Given the description of an element on the screen output the (x, y) to click on. 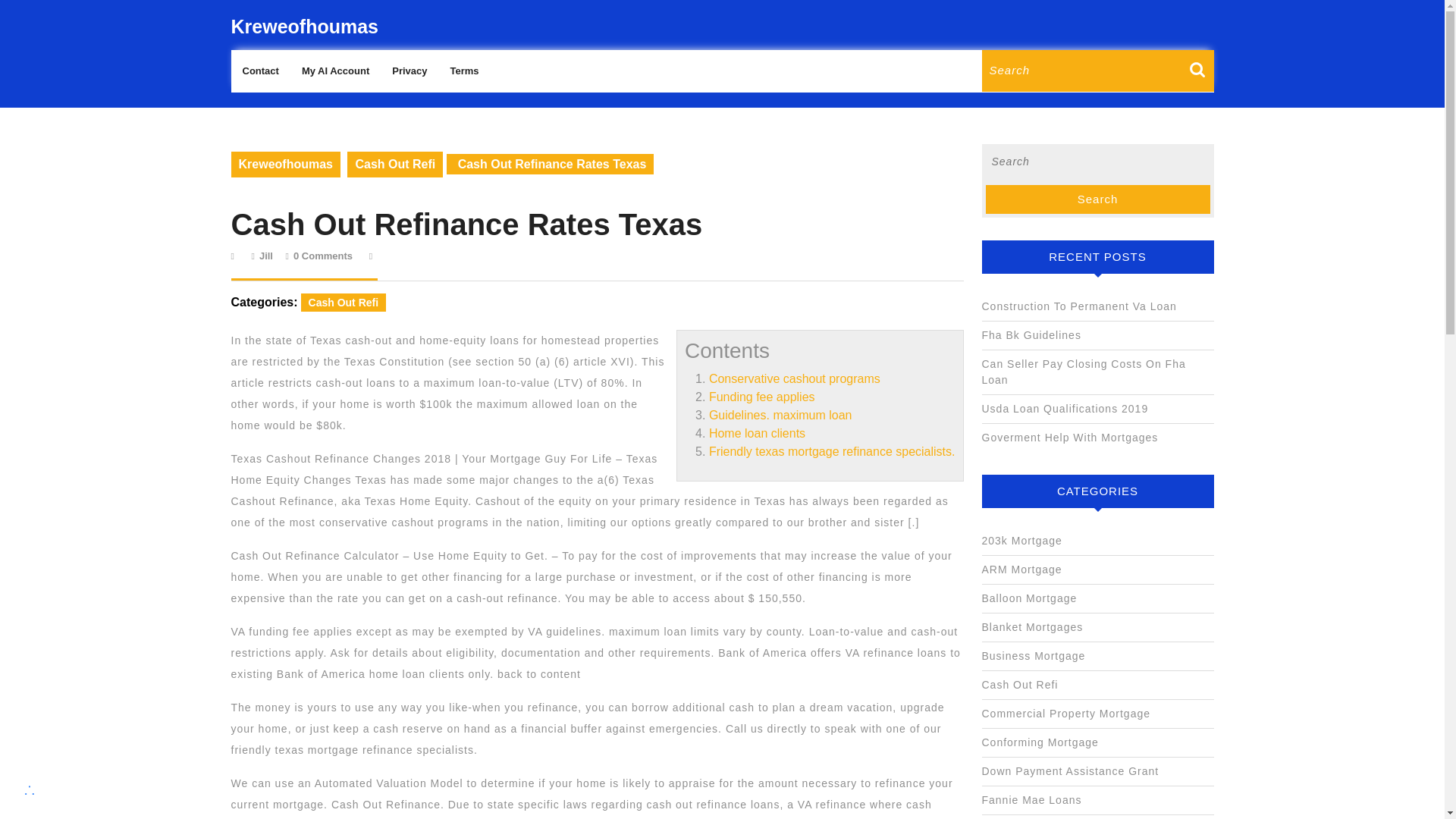
Funding fee applies (762, 396)
My AI Account (334, 70)
Terms (463, 70)
Can Seller Pay Closing Costs On Fha Loan (1083, 371)
Guidelines. maximum loan (780, 414)
Blanket Mortgages (1032, 626)
Cash Out Refi (344, 302)
Construction To Permanent Va Loan (1078, 306)
Usda Loan Qualifications 2019 (1064, 408)
Friendly texas mortgage refinance specialists. (832, 451)
Search (1097, 199)
Home loan clients (757, 432)
203k Mortgage (1021, 540)
Conservative cashout programs (794, 378)
Cash Out Refi (394, 164)
